Given the description of an element on the screen output the (x, y) to click on. 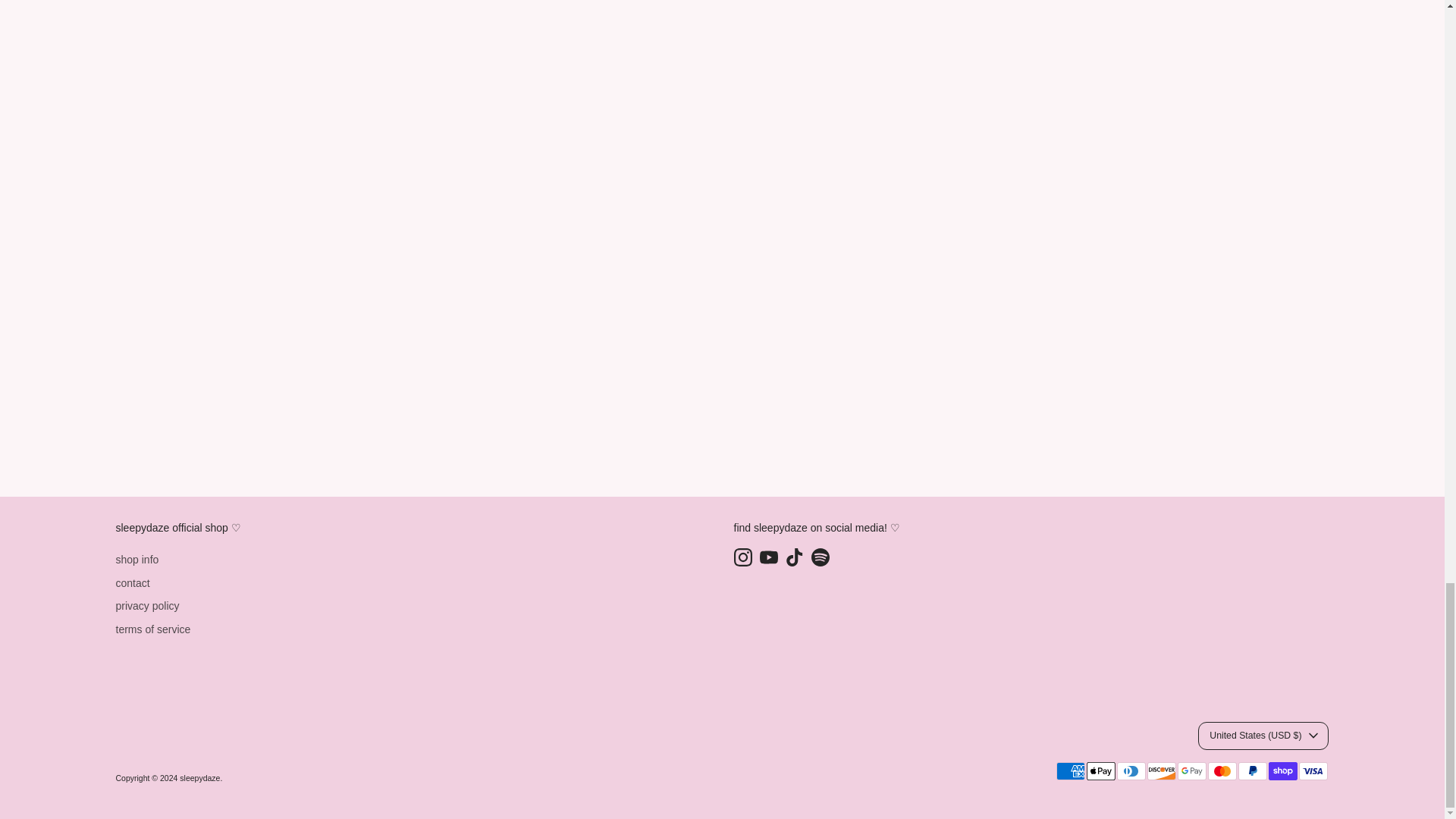
American Express (1069, 771)
Diners Club (1130, 771)
Discover (1160, 771)
Apple Pay (1100, 771)
